Given the description of an element on the screen output the (x, y) to click on. 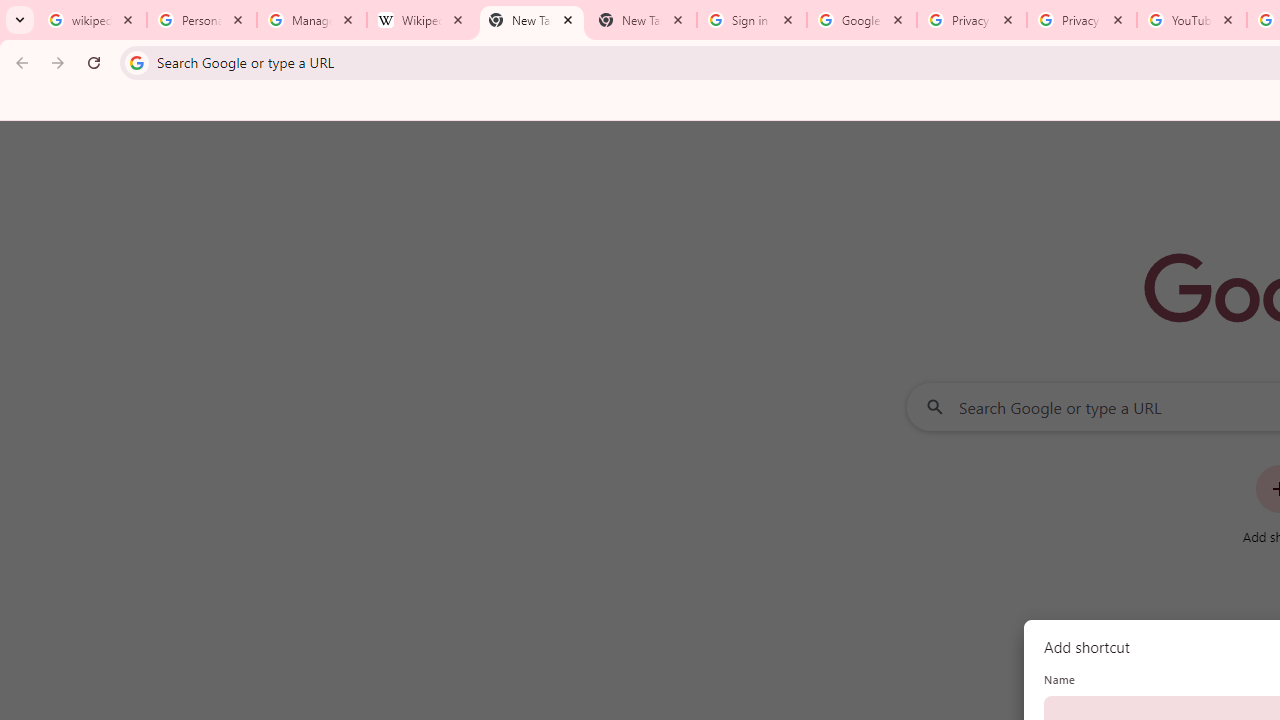
Search icon (136, 62)
